Given the description of an element on the screen output the (x, y) to click on. 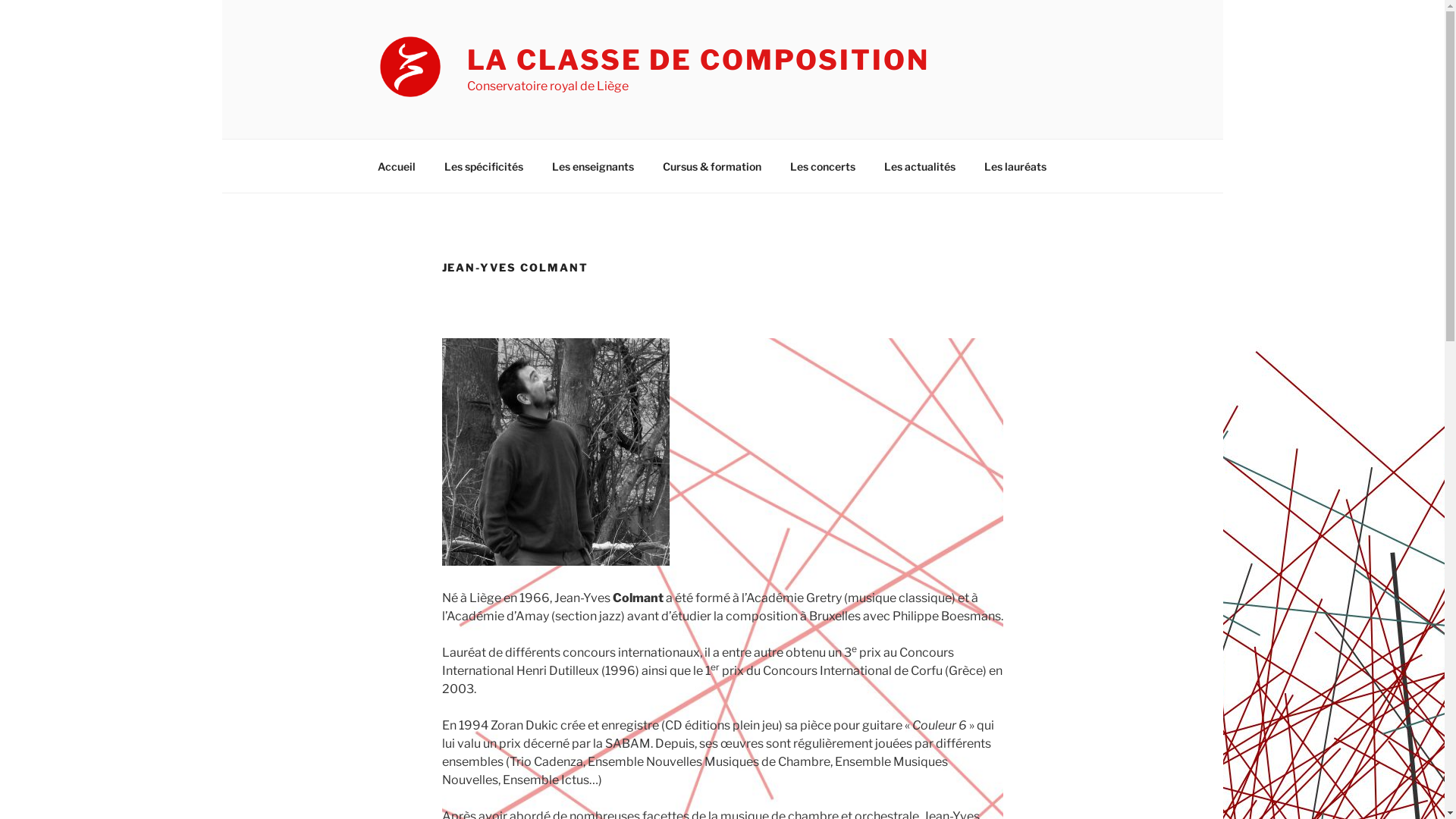
LA CLASSE DE COMPOSITION Element type: text (698, 59)
Les enseignants Element type: text (592, 165)
Les concerts Element type: text (822, 165)
Cursus & formation Element type: text (711, 165)
Accueil Element type: text (396, 165)
